Given the description of an element on the screen output the (x, y) to click on. 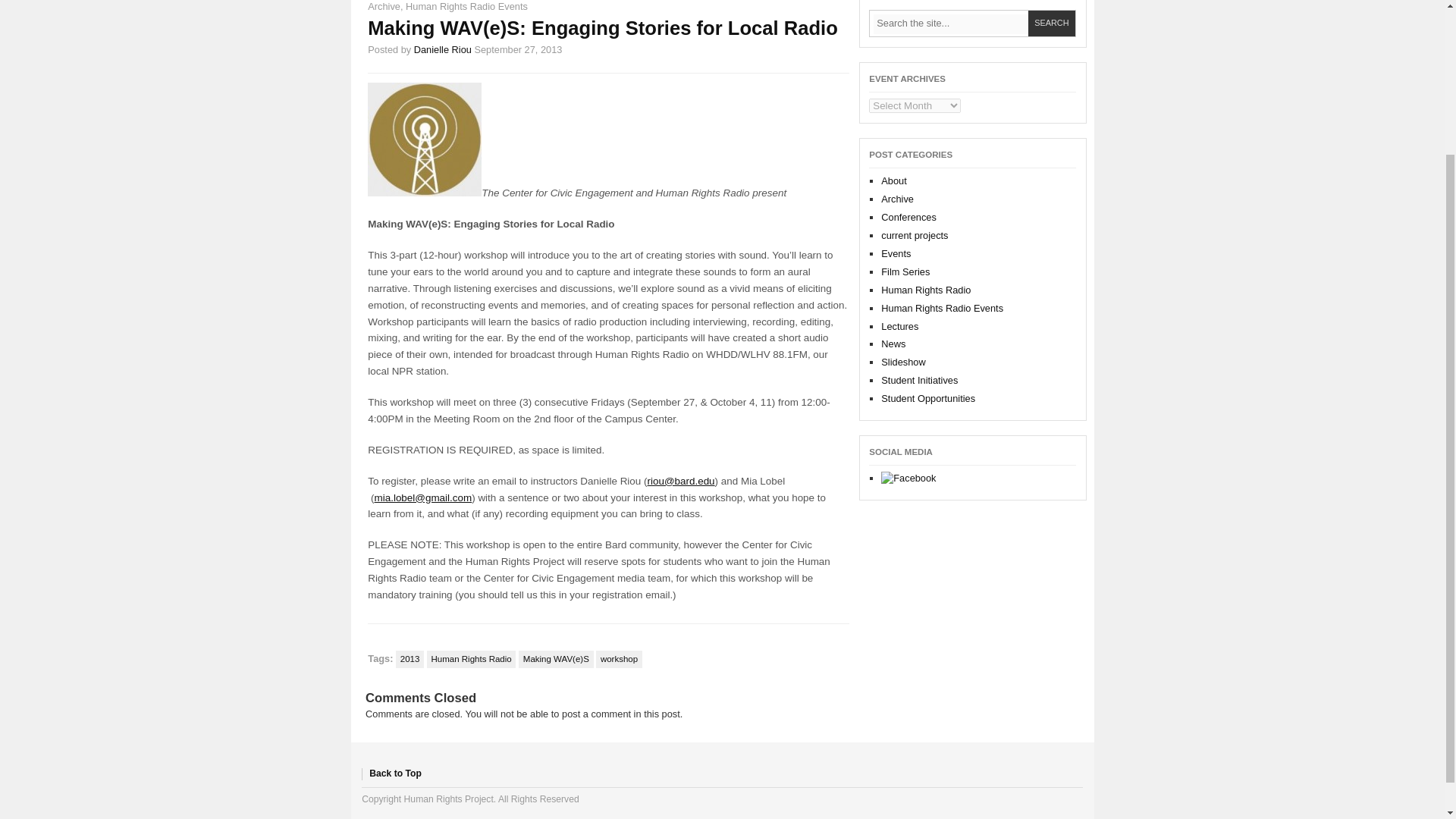
Danielle Riou (442, 49)
Danielle Riou (442, 49)
Archive (384, 6)
Human Rights Radio Events (466, 6)
Search (1051, 23)
